Given the description of an element on the screen output the (x, y) to click on. 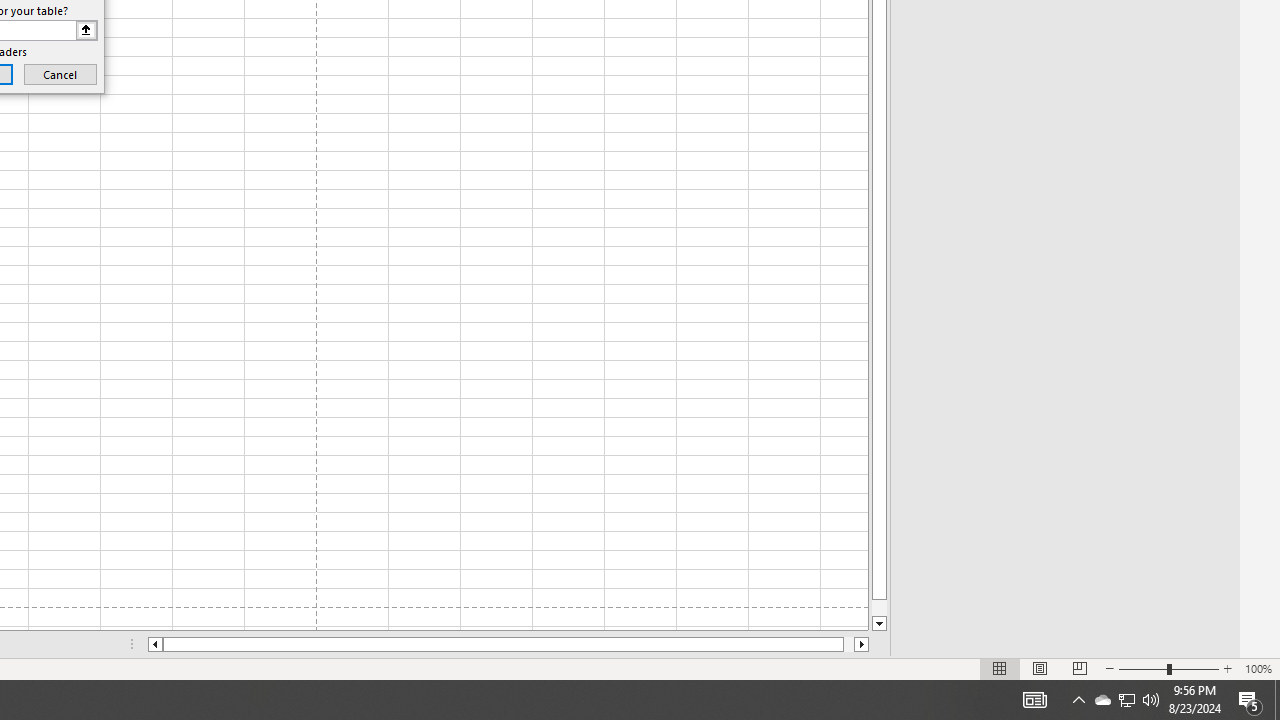
Line down (879, 624)
Zoom In (1227, 668)
Page right (848, 644)
Zoom (1168, 668)
Zoom Out (1142, 668)
Class: NetUIScrollBar (507, 644)
Normal (1000, 668)
Column left (153, 644)
Page down (879, 607)
Page Break Preview (1079, 668)
Column right (861, 644)
